Given the description of an element on the screen output the (x, y) to click on. 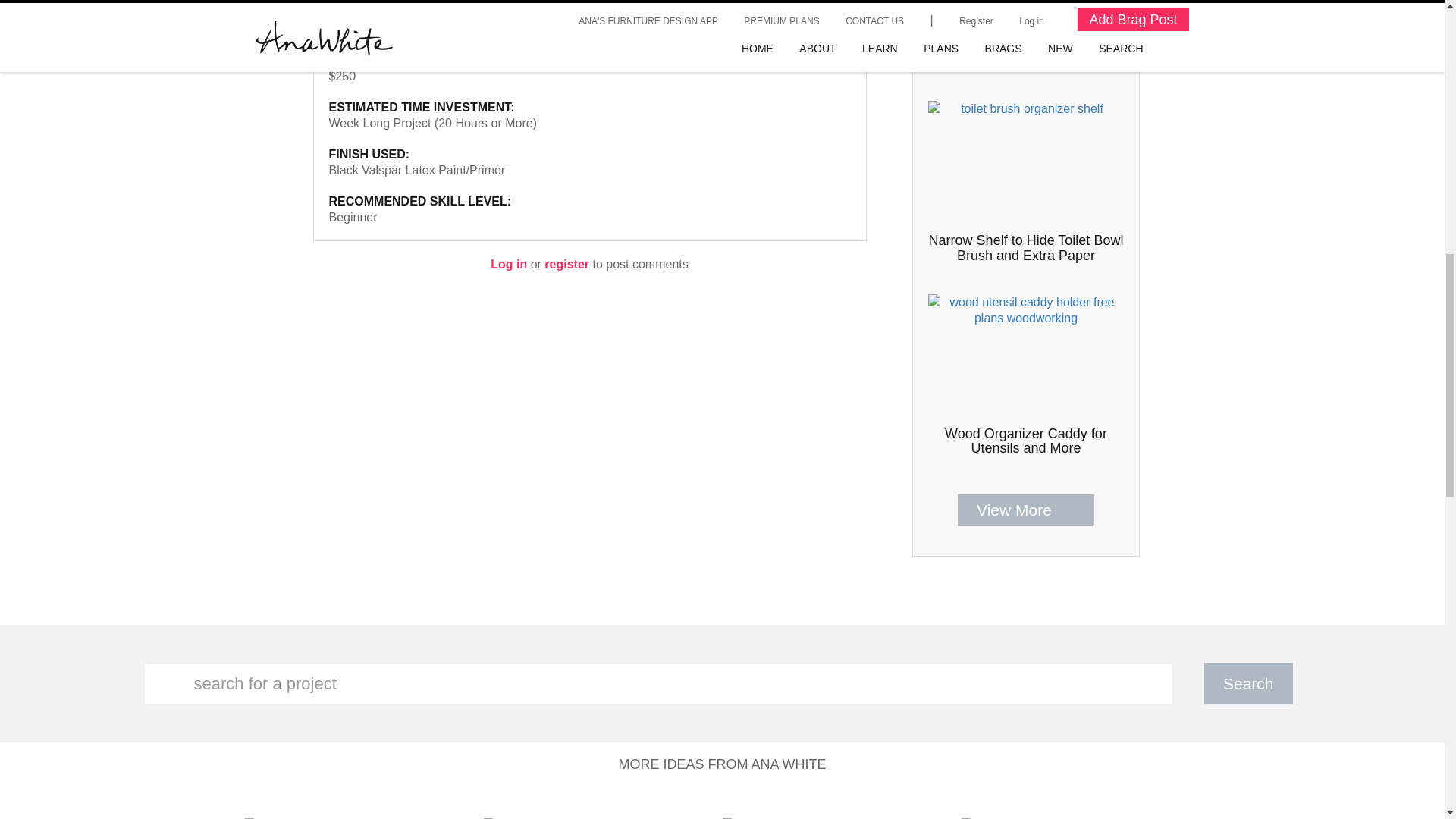
Narrow Shelf to Hide Toilet Bowl Brush and Extra Paper (1025, 247)
register (566, 264)
Wood Organizer Caddy for Utensils and More (1025, 440)
View More (1024, 509)
Log in (508, 264)
Ultimate Garage Shelving Plans (1025, 61)
How to Build a Loft Bed (392, 29)
